Given the description of an element on the screen output the (x, y) to click on. 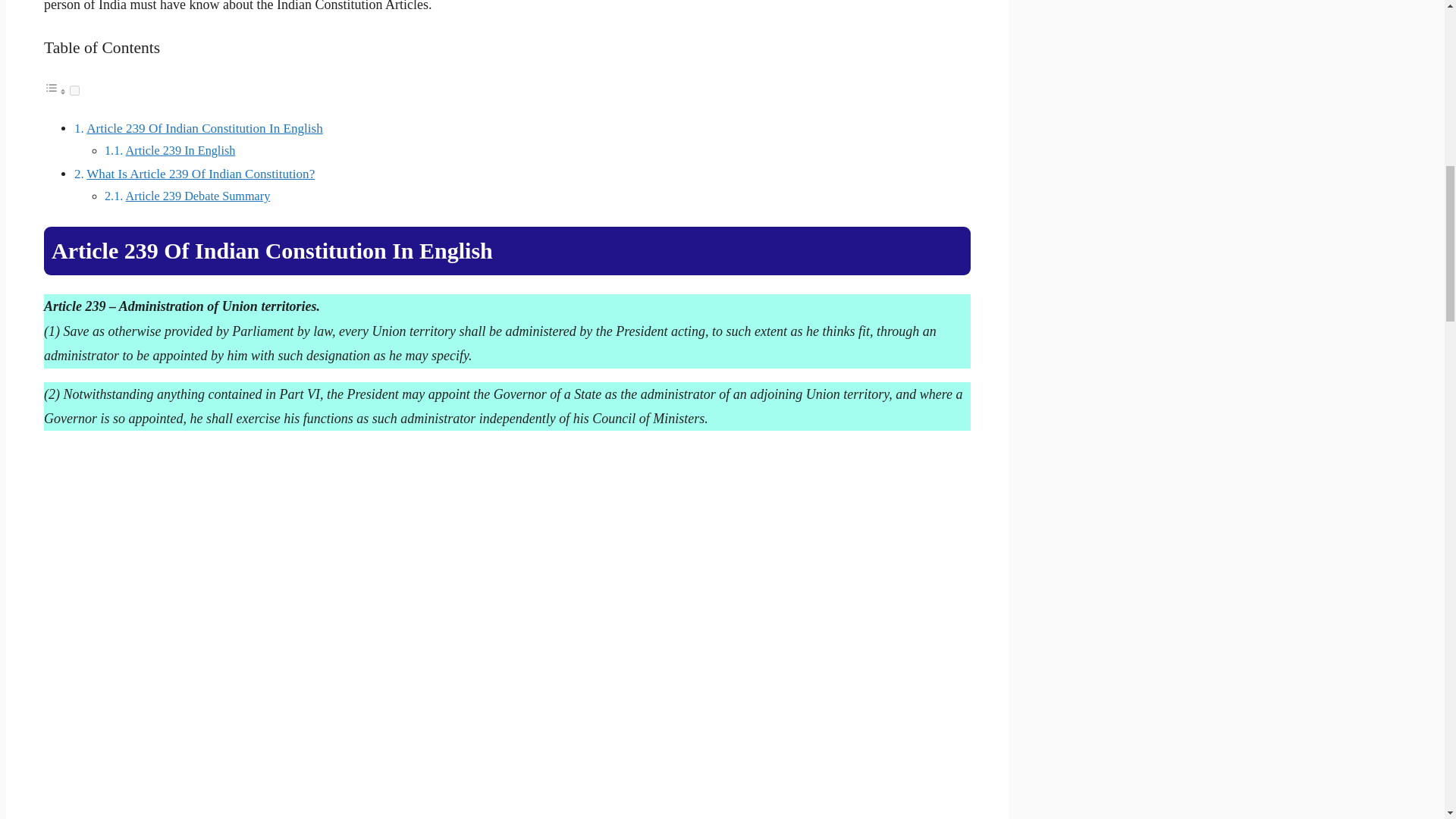
Article 239 In English (180, 151)
Article 239 Debate Summary (197, 196)
on (74, 90)
Article 239 Of Indian Constitution In English (203, 128)
Article 239 In English (180, 151)
What Is Article 239 Of Indian Constitution? (199, 173)
Article 239 Of Indian Constitution In English (203, 128)
Article 239 Debate Summary (197, 196)
What Is Article 239 Of Indian Constitution? (199, 173)
